Given the description of an element on the screen output the (x, y) to click on. 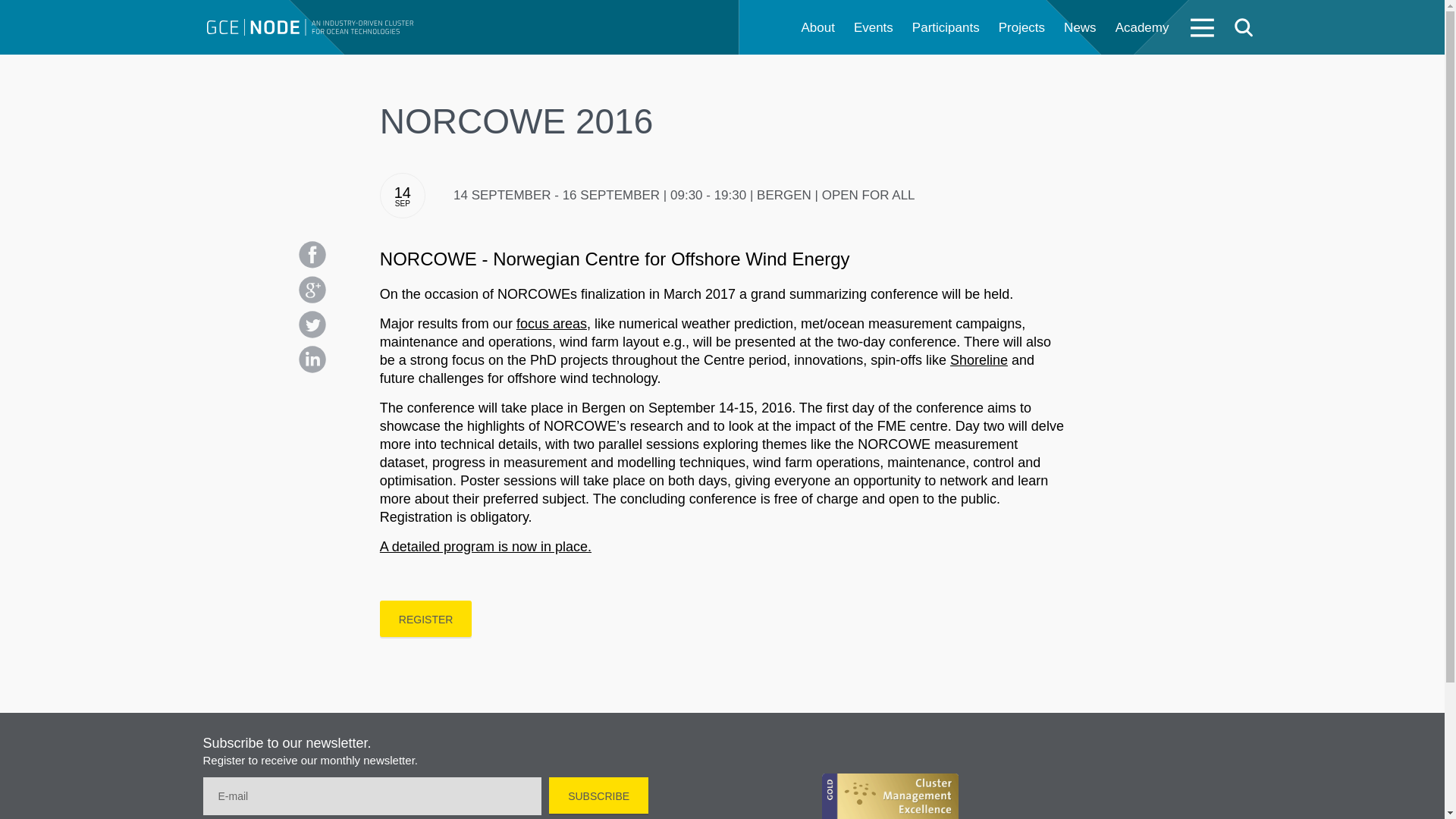
Projects (1021, 28)
News (1080, 28)
Share this page on googleplus (312, 289)
Share this page on facebook (312, 254)
Share this page on twitter (312, 324)
Academy (1142, 28)
About (817, 28)
Events (873, 28)
Share this page on linkedin (312, 359)
Subscribe (597, 795)
focus areas (551, 323)
Participants (945, 28)
